Given the description of an element on the screen output the (x, y) to click on. 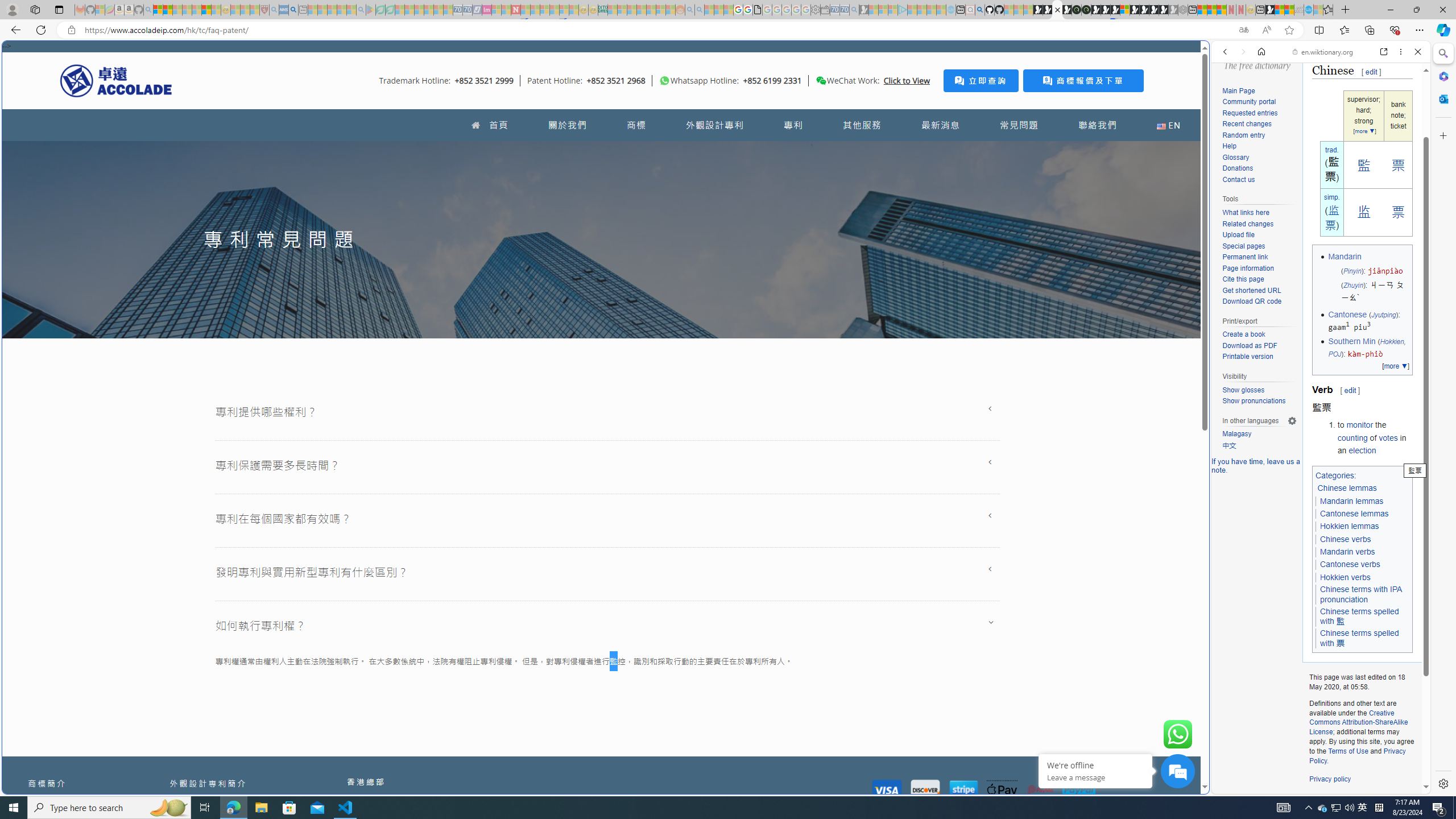
Tabs you've opened (885, 151)
Hokkien verbs (1345, 577)
EN (1168, 124)
to monitor the counting of votes in an election (1374, 437)
Malagasy (1236, 433)
Categories (1335, 474)
